Given the description of an element on the screen output the (x, y) to click on. 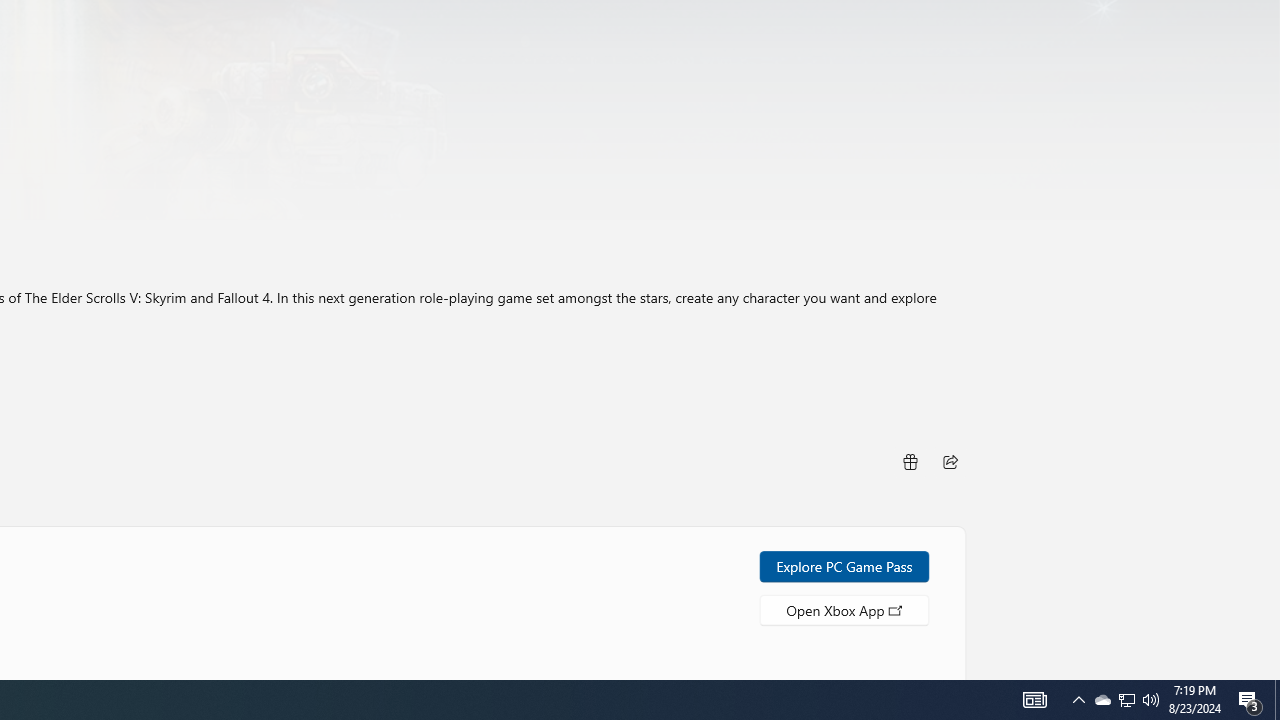
Explore PC Game Pass (844, 565)
Open Xbox App (844, 609)
Share (950, 460)
Buy as gift (909, 460)
